Given the description of an element on the screen output the (x, y) to click on. 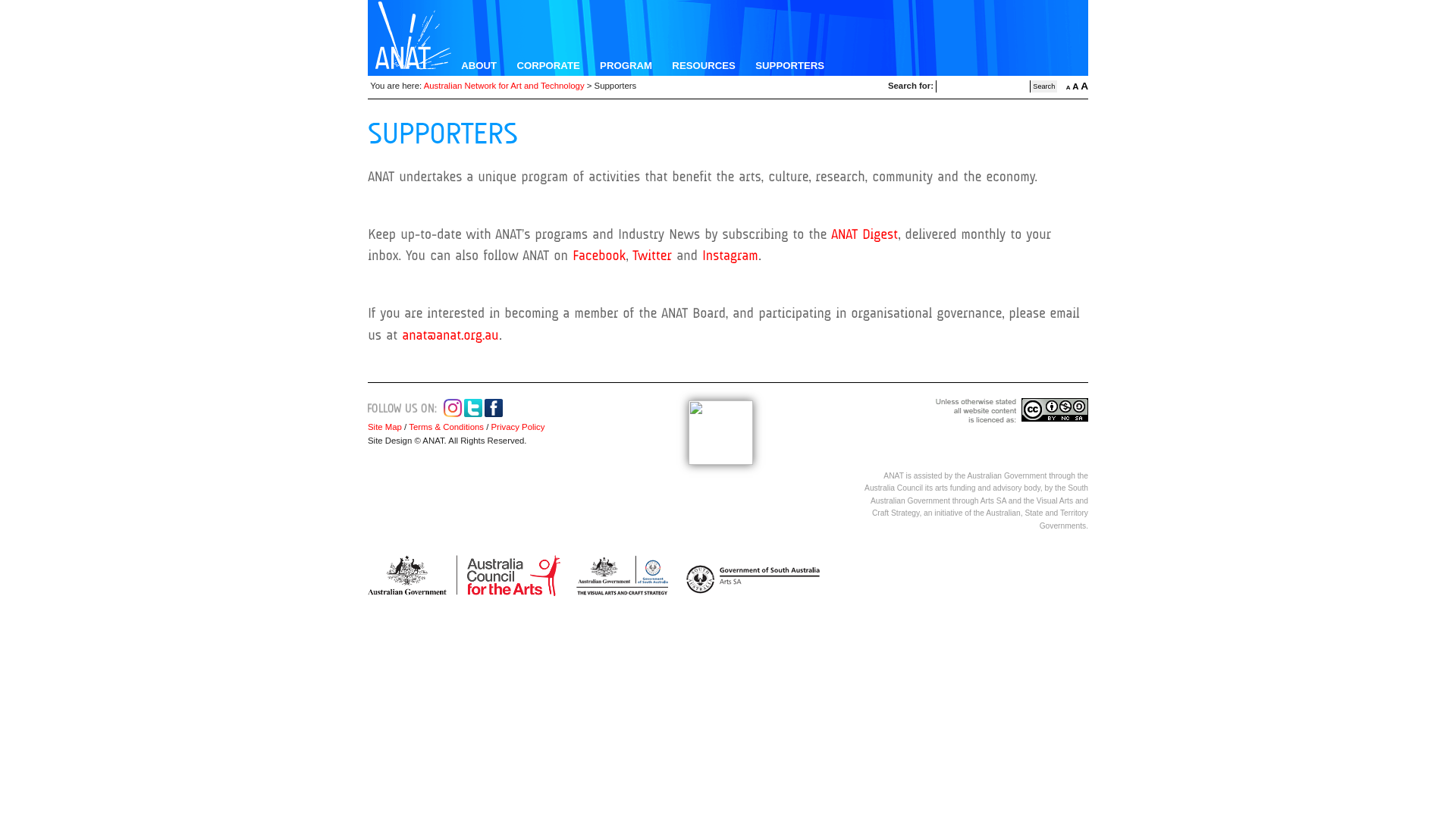
Terms & Conditions Element type: text (445, 426)
Search Element type: text (1043, 86)
Australian Government | Australia Council for the Arts Element type: hover (463, 575)
Privacy Policy Element type: text (516, 426)
RESOURCES Element type: text (703, 65)
A Element type: text (1068, 87)
ABOUT Element type: text (478, 65)
Goverment of South Australia Element type: hover (748, 575)
Site Map Element type: text (384, 426)
SUPPORTERS Element type: text (789, 65)
A Element type: text (1075, 86)
CORPORATE Element type: text (547, 65)
Australian Network for Art and Technology Element type: text (503, 85)
PROGRAM Element type: text (625, 65)
A Element type: text (1084, 85)
